Given the description of an element on the screen output the (x, y) to click on. 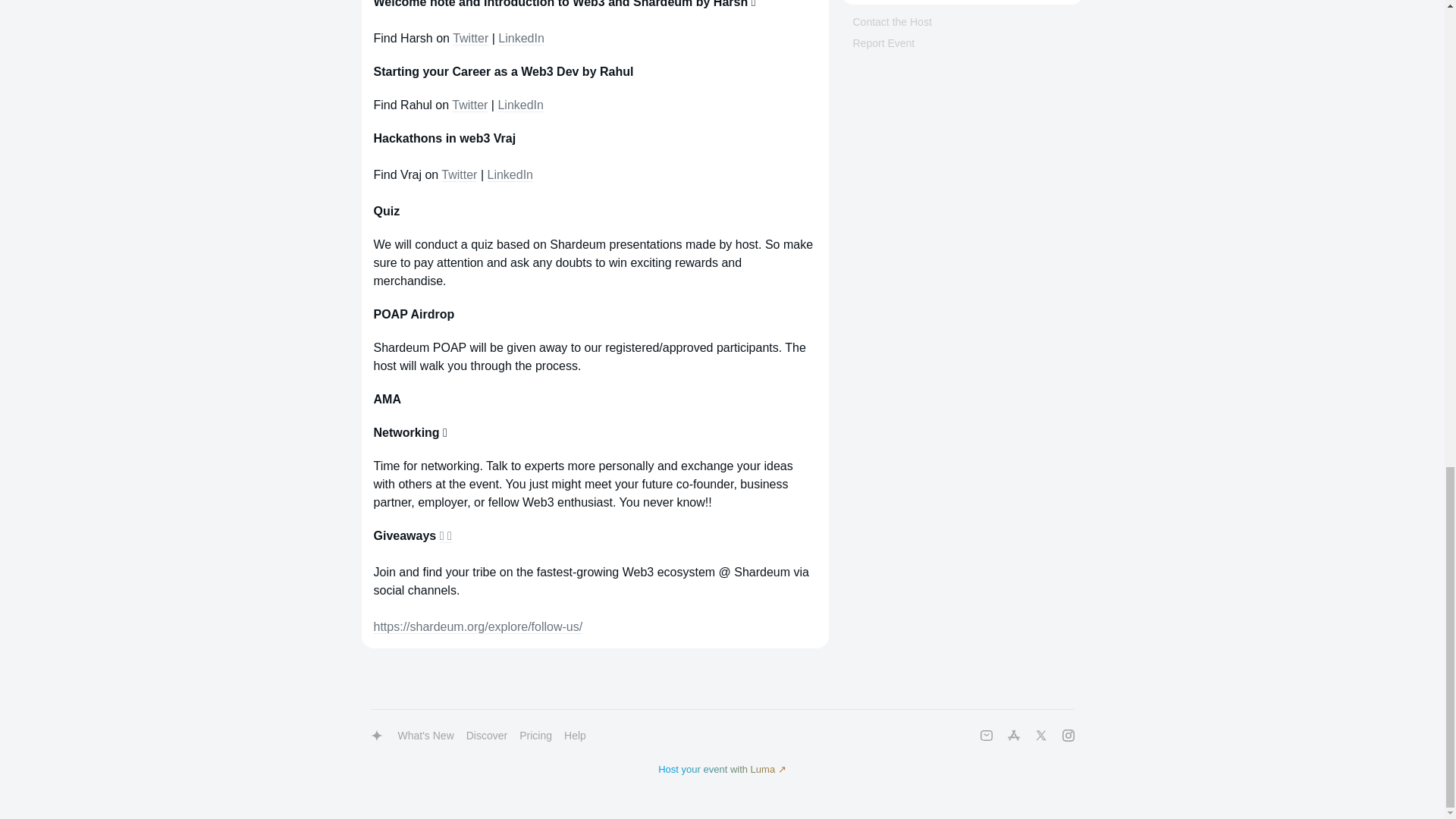
LinkedIn (509, 174)
Pricing (535, 735)
LinkedIn (520, 38)
Twitter (469, 38)
Report Event (882, 42)
Contact the Host (891, 21)
Help (574, 735)
Twitter (459, 174)
Discover (486, 735)
What's New (425, 735)
